Given the description of an element on the screen output the (x, y) to click on. 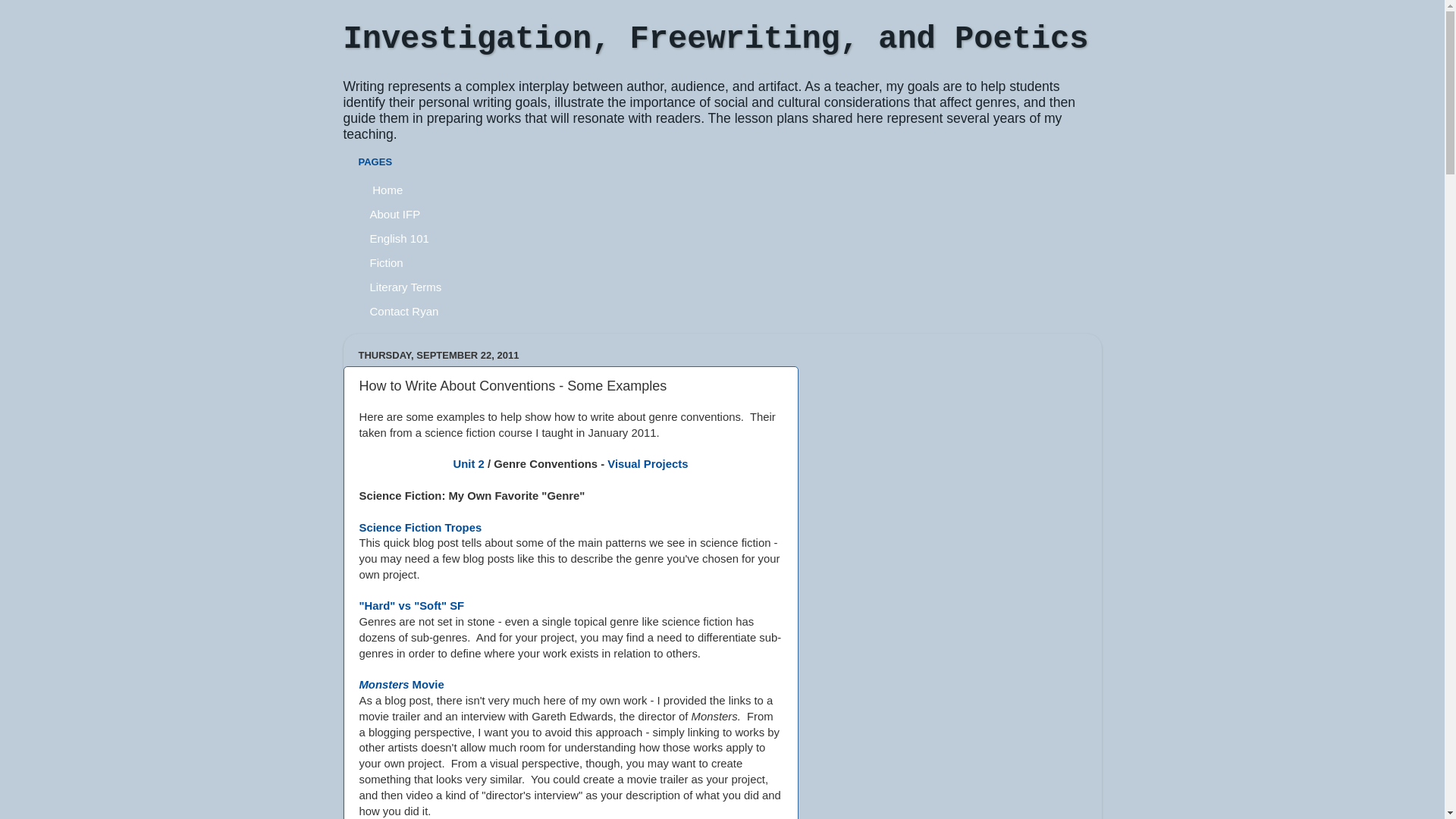
About IFP Element type: text (394, 213)
Monsters Movie Element type: text (401, 684)
Unit 2 Element type: text (468, 464)
Contact Ryan Element type: text (403, 310)
"Hard" vs "Soft" SF Element type: text (411, 605)
Fiction Element type: text (385, 262)
Science Fiction Tropes Element type: text (420, 527)
Investigation, Freewriting, and Poetics Element type: text (715, 39)
Visual Projects Element type: text (647, 464)
Literary Terms Element type: text (405, 286)
Home Element type: text (385, 189)
English 101 Element type: text (398, 237)
